Given the description of an element on the screen output the (x, y) to click on. 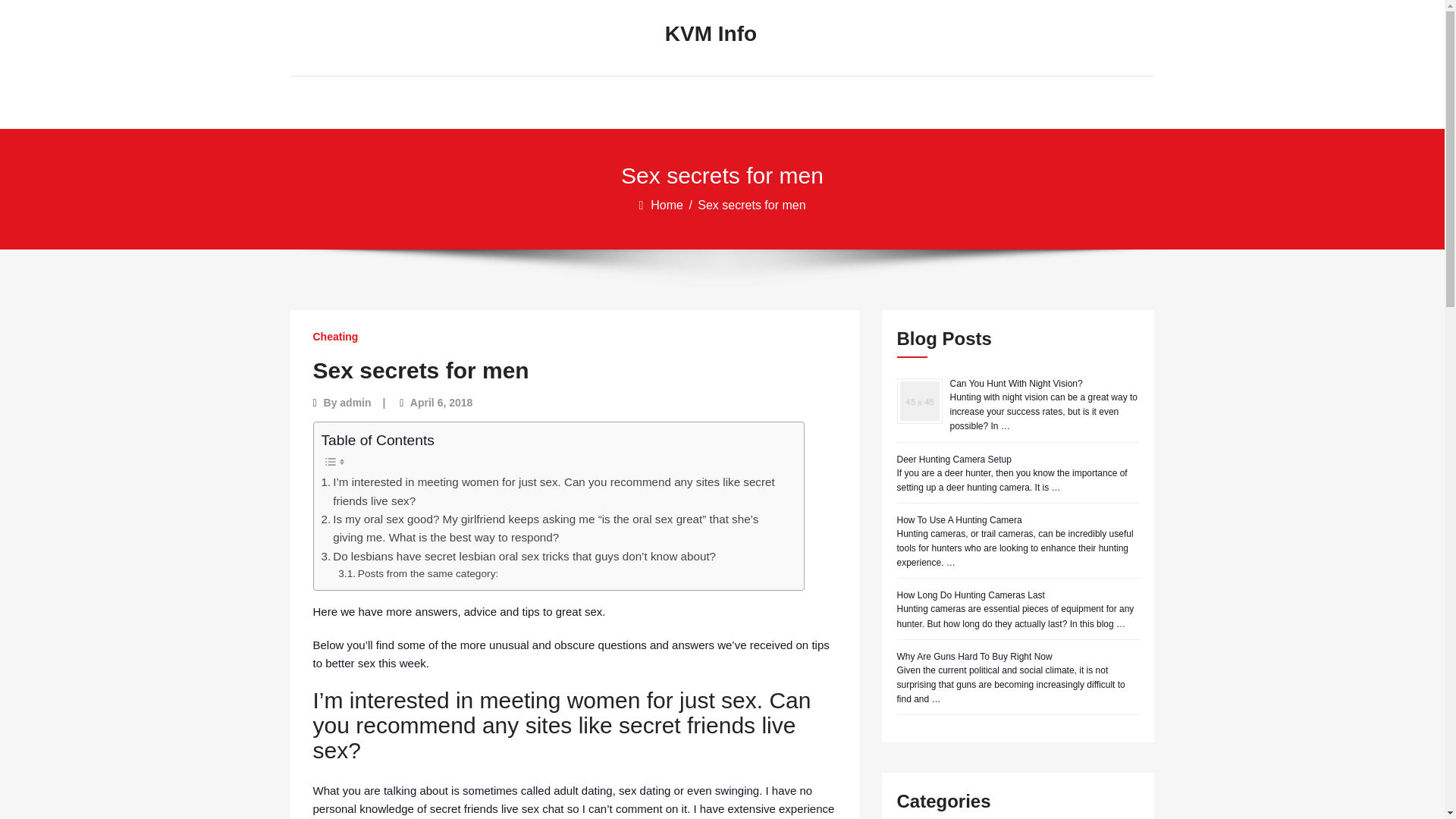
How To Use A Hunting Camera (959, 520)
Deer Hunting Camera Setup (953, 459)
Why Are Guns Hard To Buy Right Now (973, 656)
admin (355, 402)
Posts from the same category: (417, 573)
Home (667, 205)
Can You Hunt With Night Vision? (1015, 383)
KVM Info (710, 34)
Posts from the same category: (417, 573)
How Long Do Hunting Cameras Last (969, 594)
Cheating (335, 336)
April 6, 2018 (441, 402)
